Given the description of an element on the screen output the (x, y) to click on. 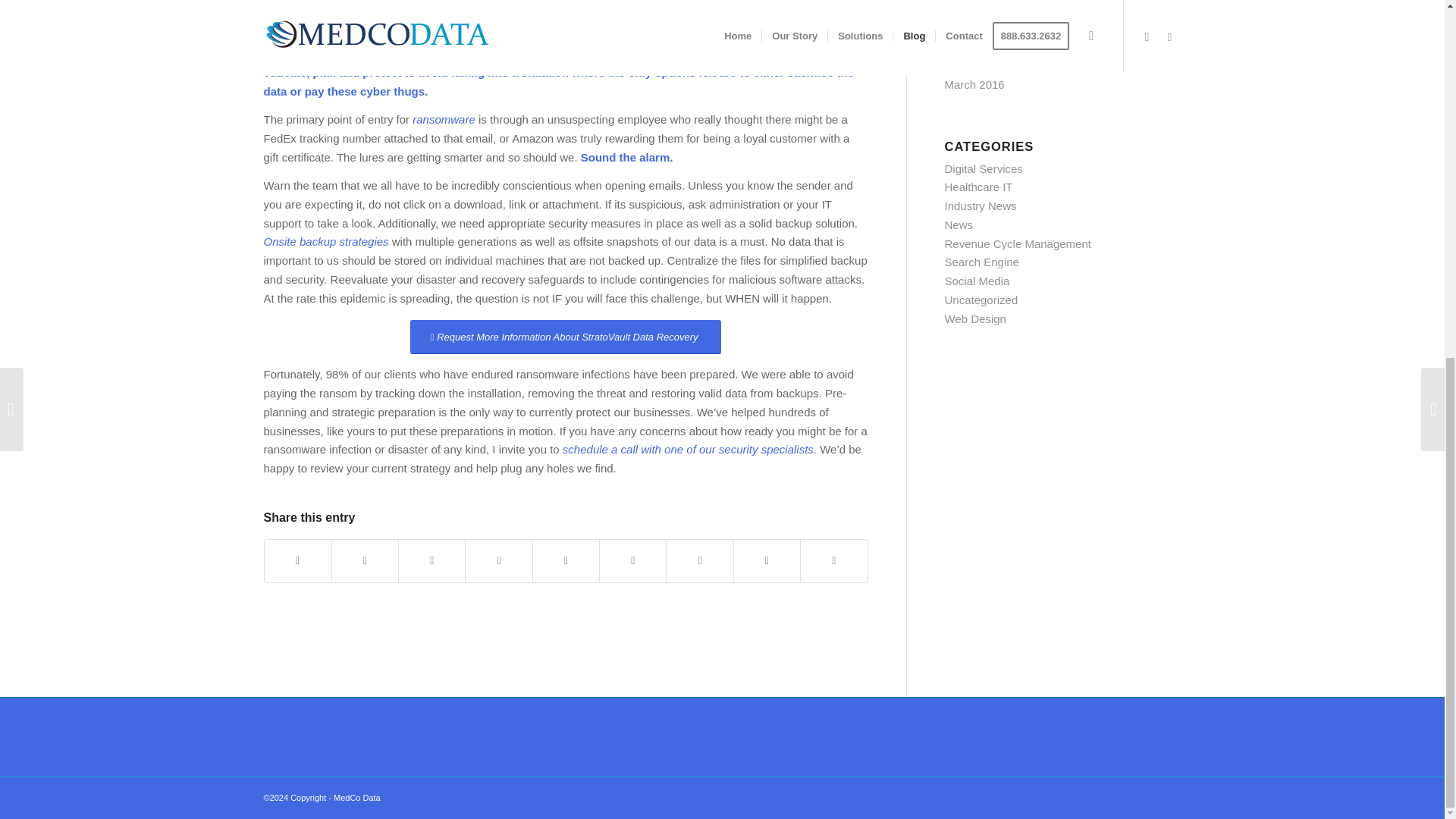
schedule a call with one of our security specialists (687, 449)
ransomware (444, 119)
Onsite backup strategies (325, 241)
Request More Information About StratoVault Data Recovery (565, 336)
virus and ransomware attacks (724, 2)
